Given the description of an element on the screen output the (x, y) to click on. 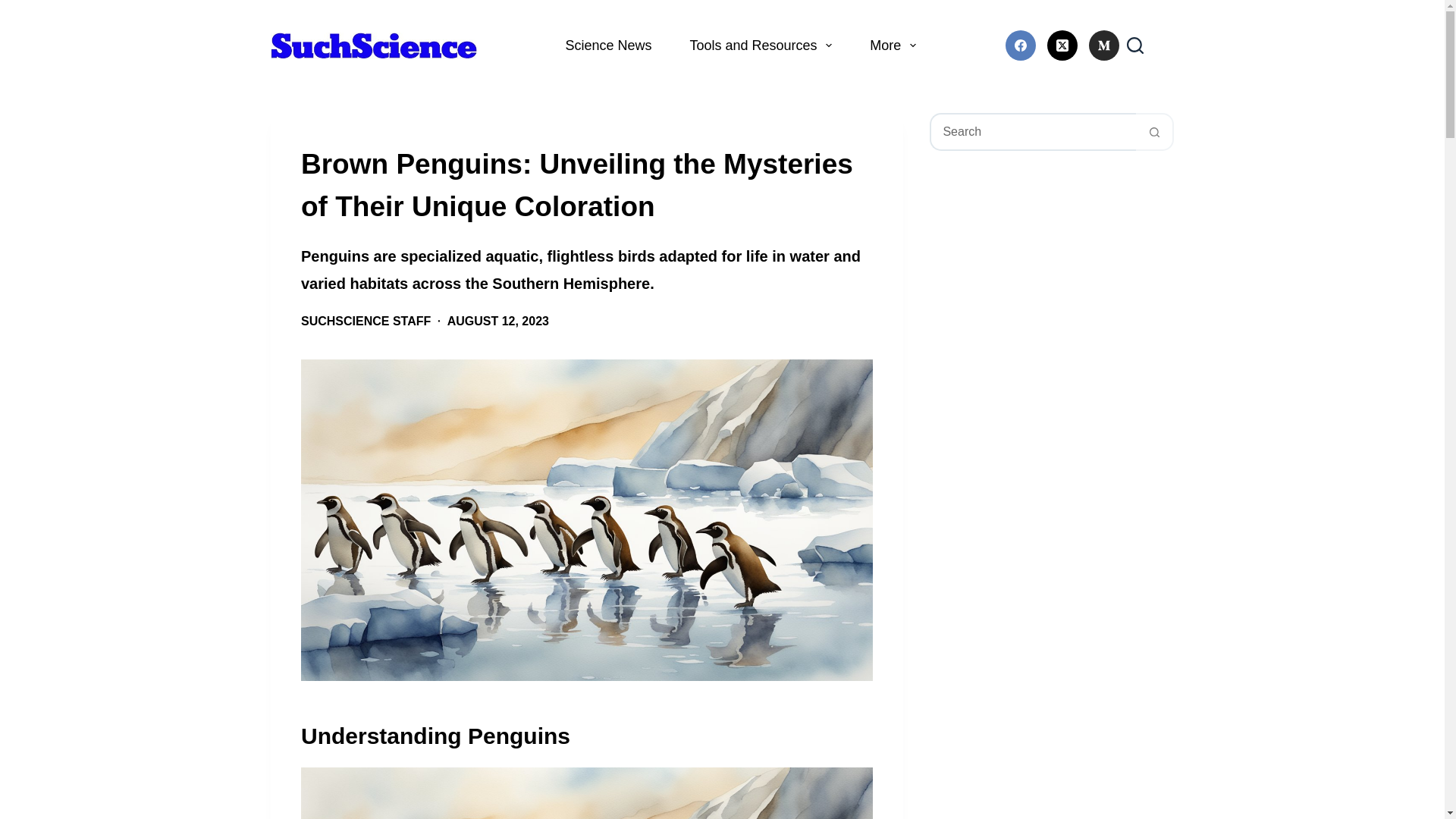
Skip to content (15, 7)
Posts by SuchScience Staff (365, 320)
Tools and Resources (759, 45)
Science News (607, 45)
Search for... (1032, 131)
More (892, 45)
